Given the description of an element on the screen output the (x, y) to click on. 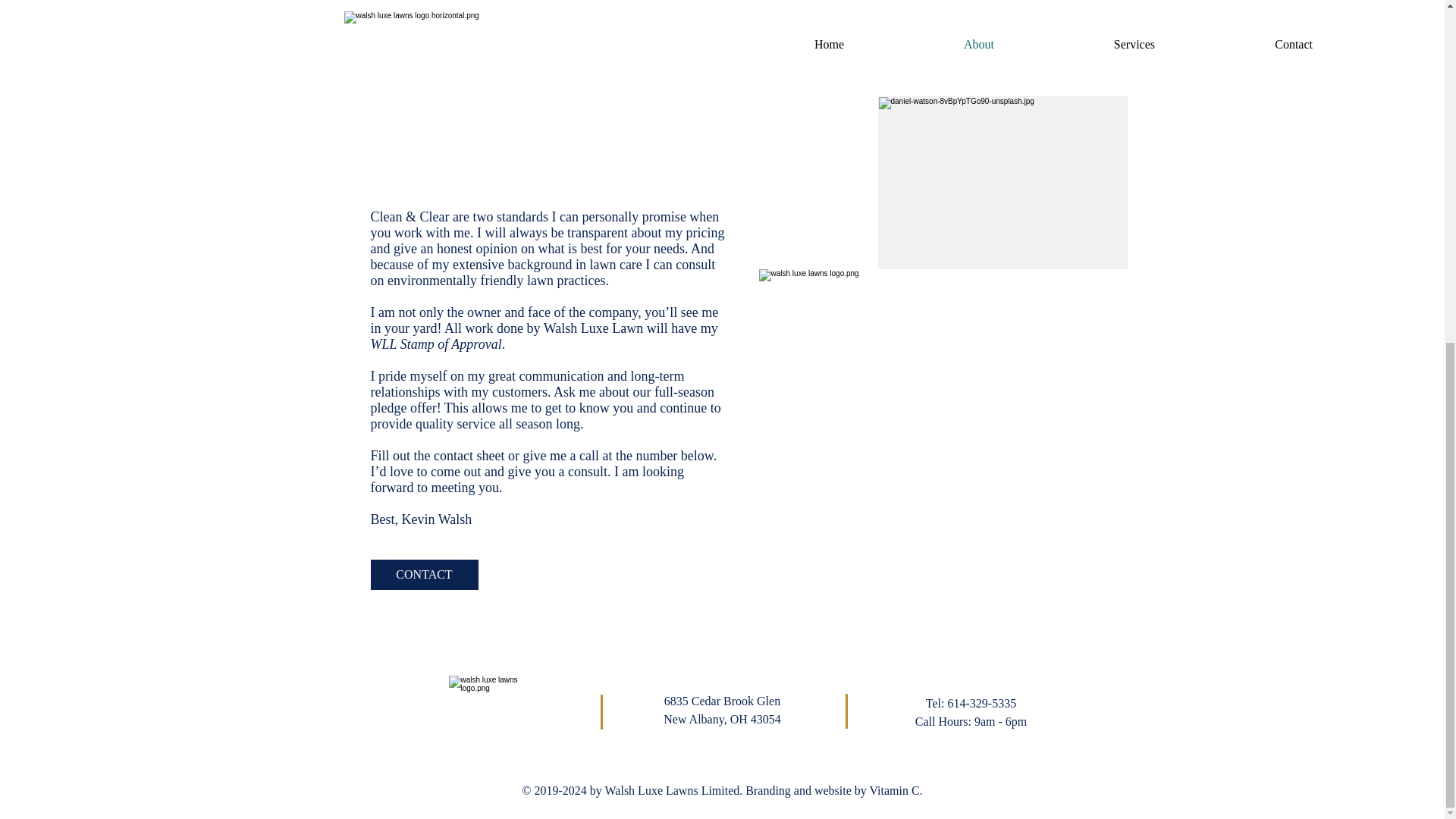
CONTACT (423, 574)
